Given the description of an element on the screen output the (x, y) to click on. 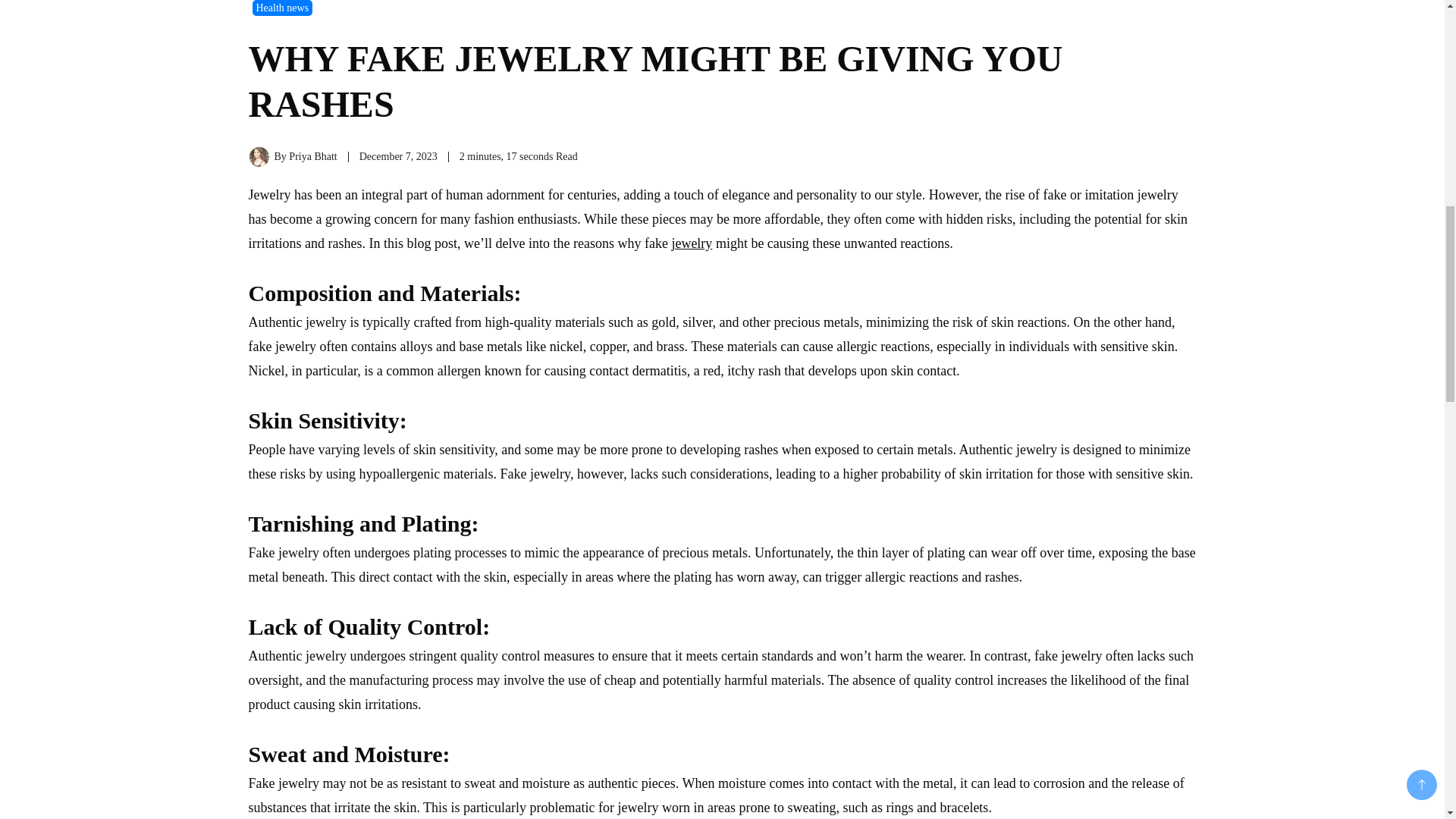
Priya Bhatt (312, 156)
December 7, 2023 (398, 156)
Health news (282, 7)
jewelry (691, 242)
